Given the description of an element on the screen output the (x, y) to click on. 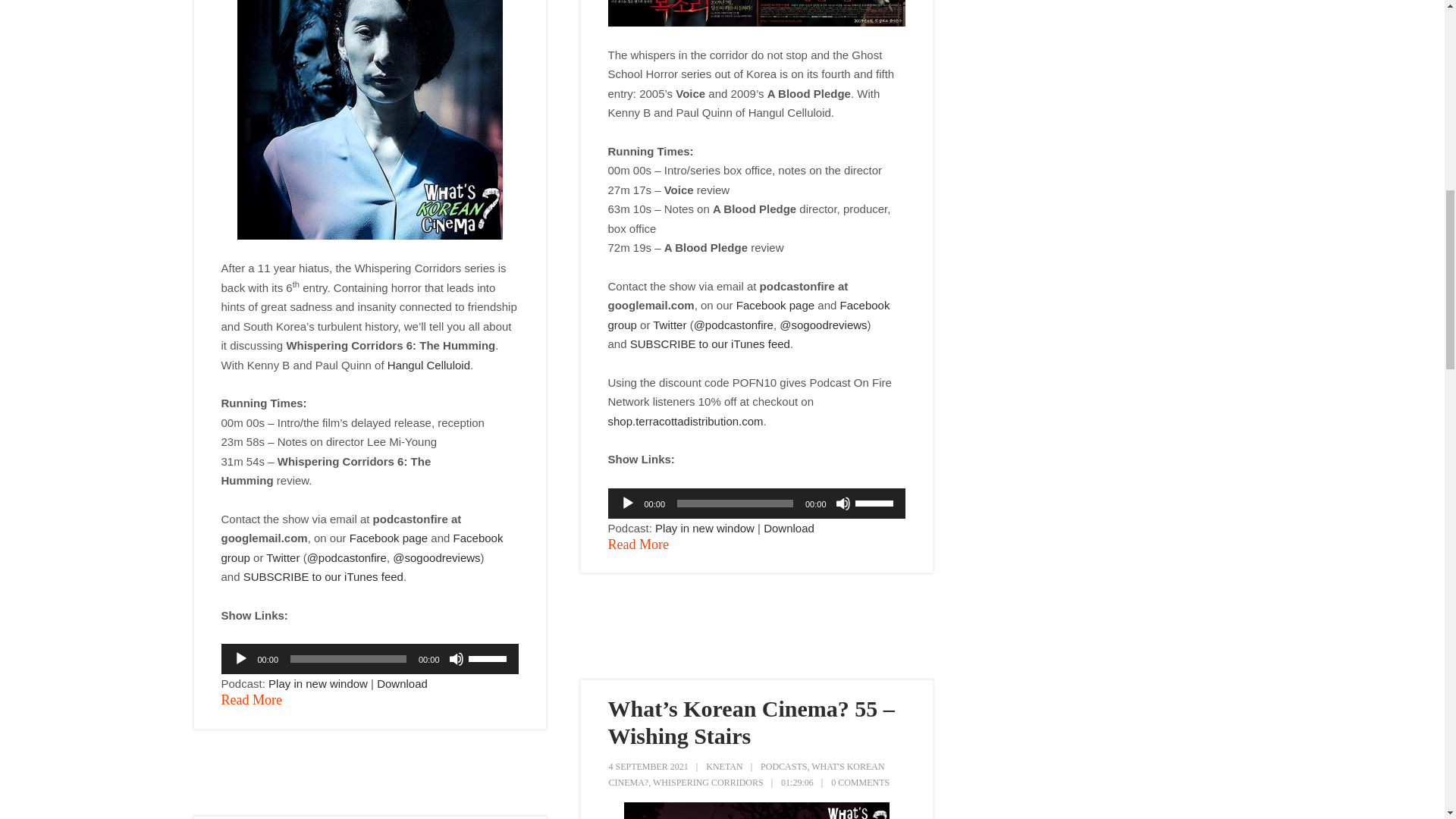
Read More (638, 545)
Download (787, 527)
Read More (251, 700)
Twitter (668, 324)
Hangul Celluloid (428, 364)
Facebook page (388, 537)
Facebook group (362, 547)
Facebook page (774, 305)
Download (402, 683)
SUBSCRIBE to our iTunes feed (710, 343)
Mute (456, 658)
Play in new window (317, 683)
Mute (842, 503)
Play (627, 503)
shop.terracottadistribution.com (685, 420)
